Given the description of an element on the screen output the (x, y) to click on. 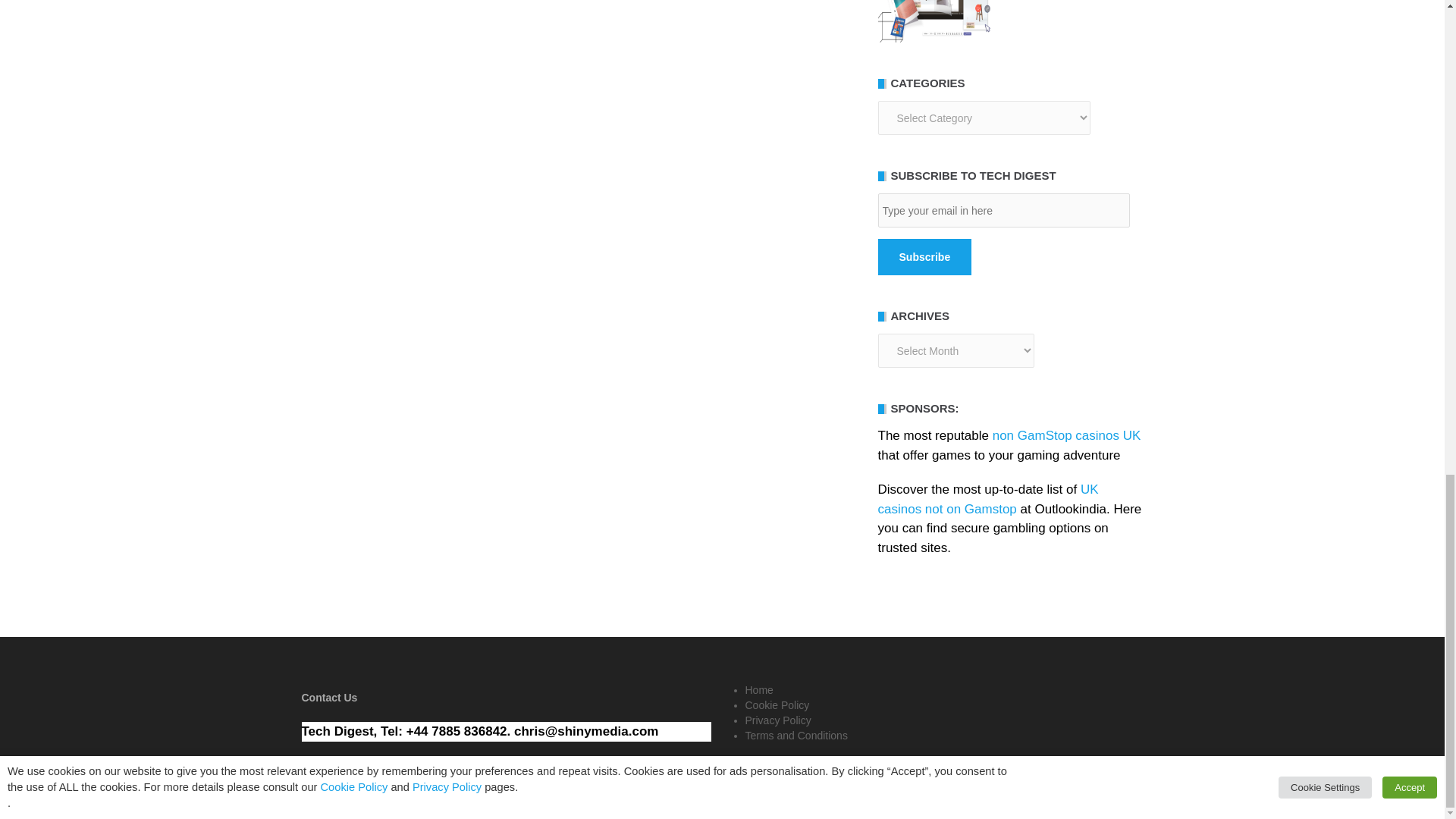
Type your email in here (1003, 210)
Type your email in here (1003, 210)
